Given the description of an element on the screen output the (x, y) to click on. 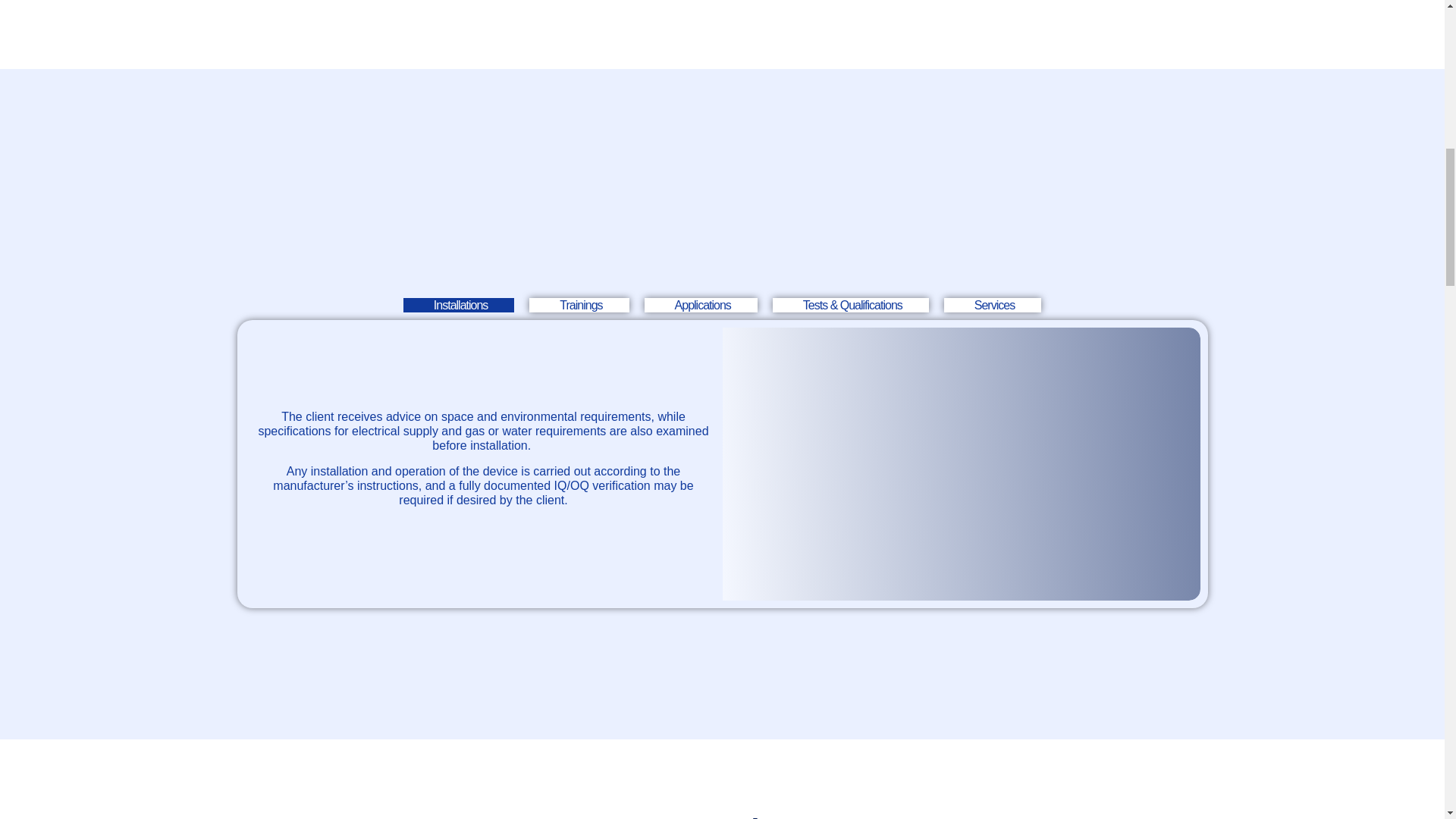
Trainings (578, 305)
Applications (701, 305)
Installations (459, 305)
Services (992, 305)
